Given the description of an element on the screen output the (x, y) to click on. 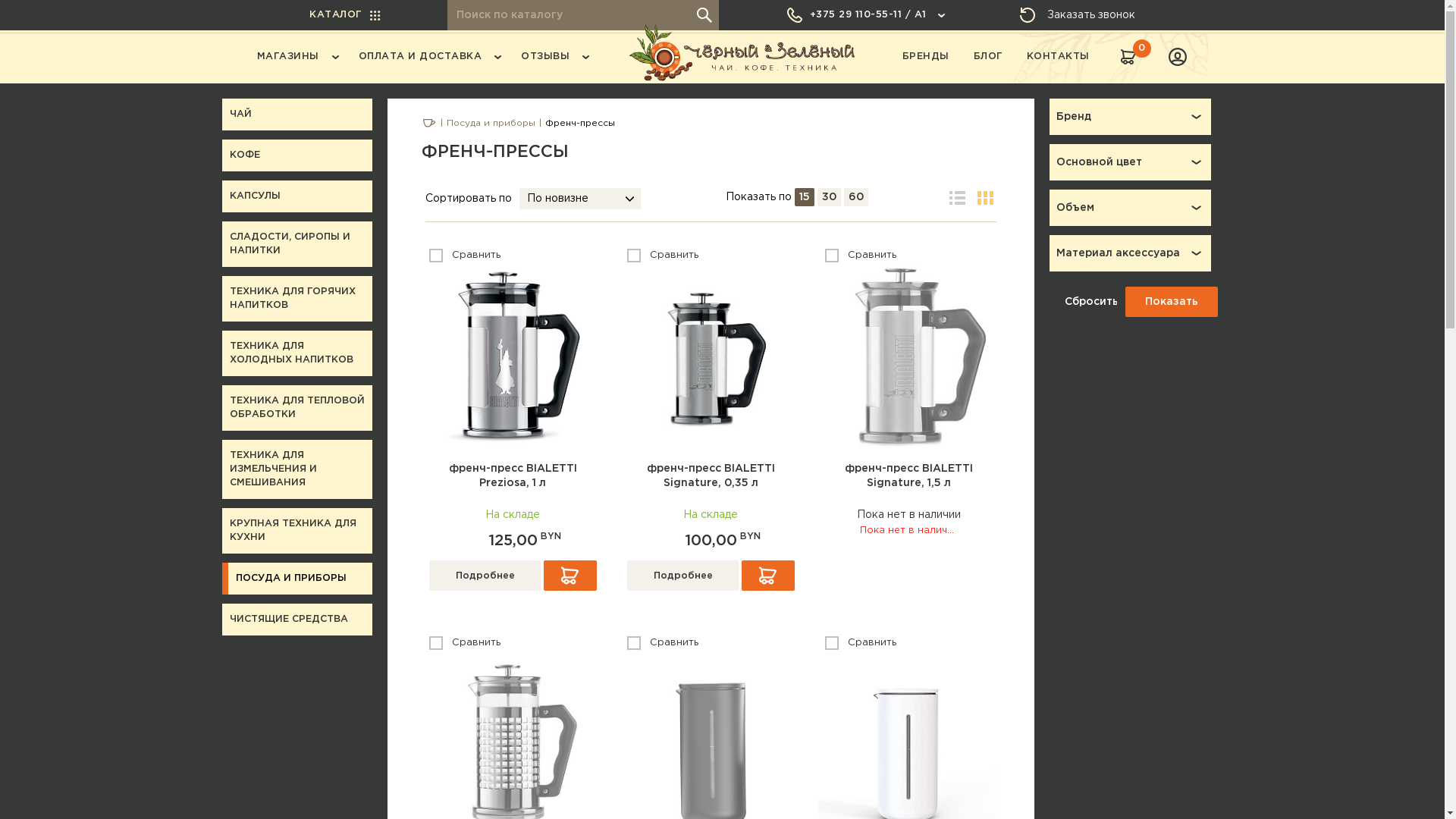
60 Element type: text (856, 197)
15 Element type: text (804, 197)
BlackGreen.by Element type: text (740, 54)
0 Element type: text (1127, 56)
30 Element type: text (828, 197)
